Given the description of an element on the screen output the (x, y) to click on. 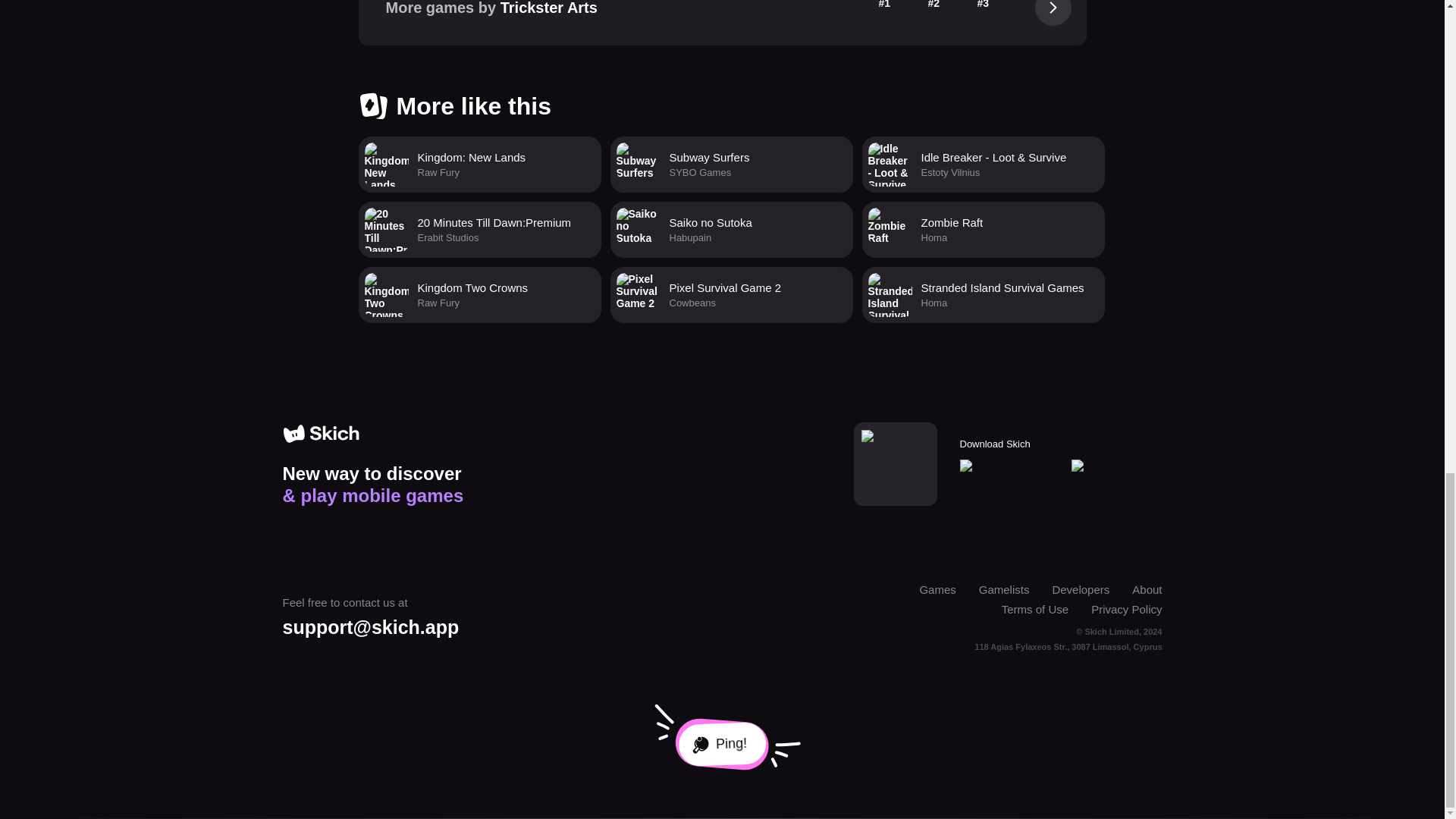
More games by Trickster Arts (478, 164)
